Given the description of an element on the screen output the (x, y) to click on. 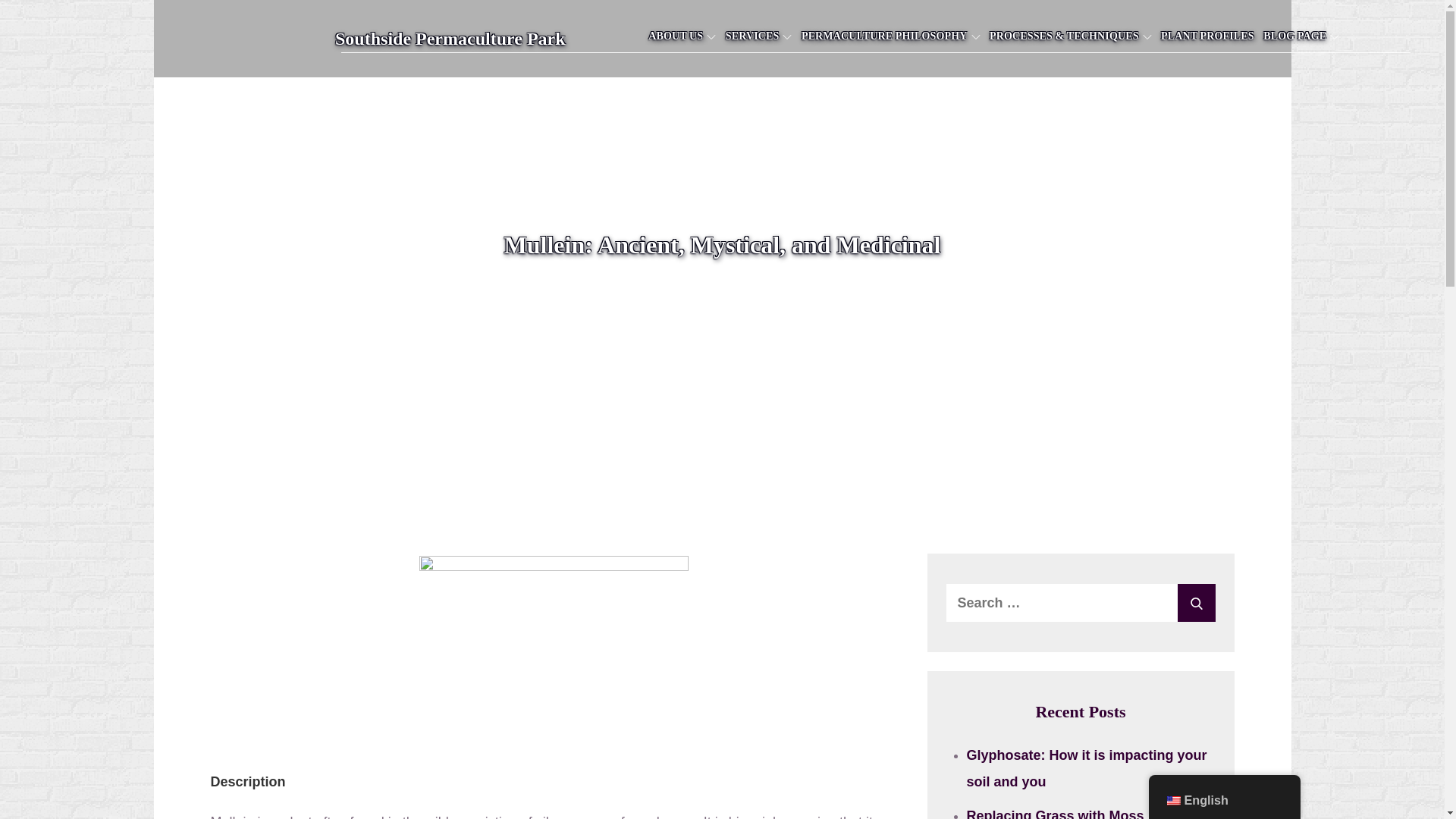
Glyphosate: How it is impacting your soil and you (1086, 768)
BLOG PAGE (1301, 35)
SEARCH (1195, 602)
ABOUT US (682, 35)
PLANT PROFILES (1207, 35)
Southside Permaculture Park (450, 38)
PERMACULTURE PHILOSOPHY (890, 35)
English (1172, 800)
Replacing Grass with Moss (1054, 813)
SERVICES (758, 35)
